Given the description of an element on the screen output the (x, y) to click on. 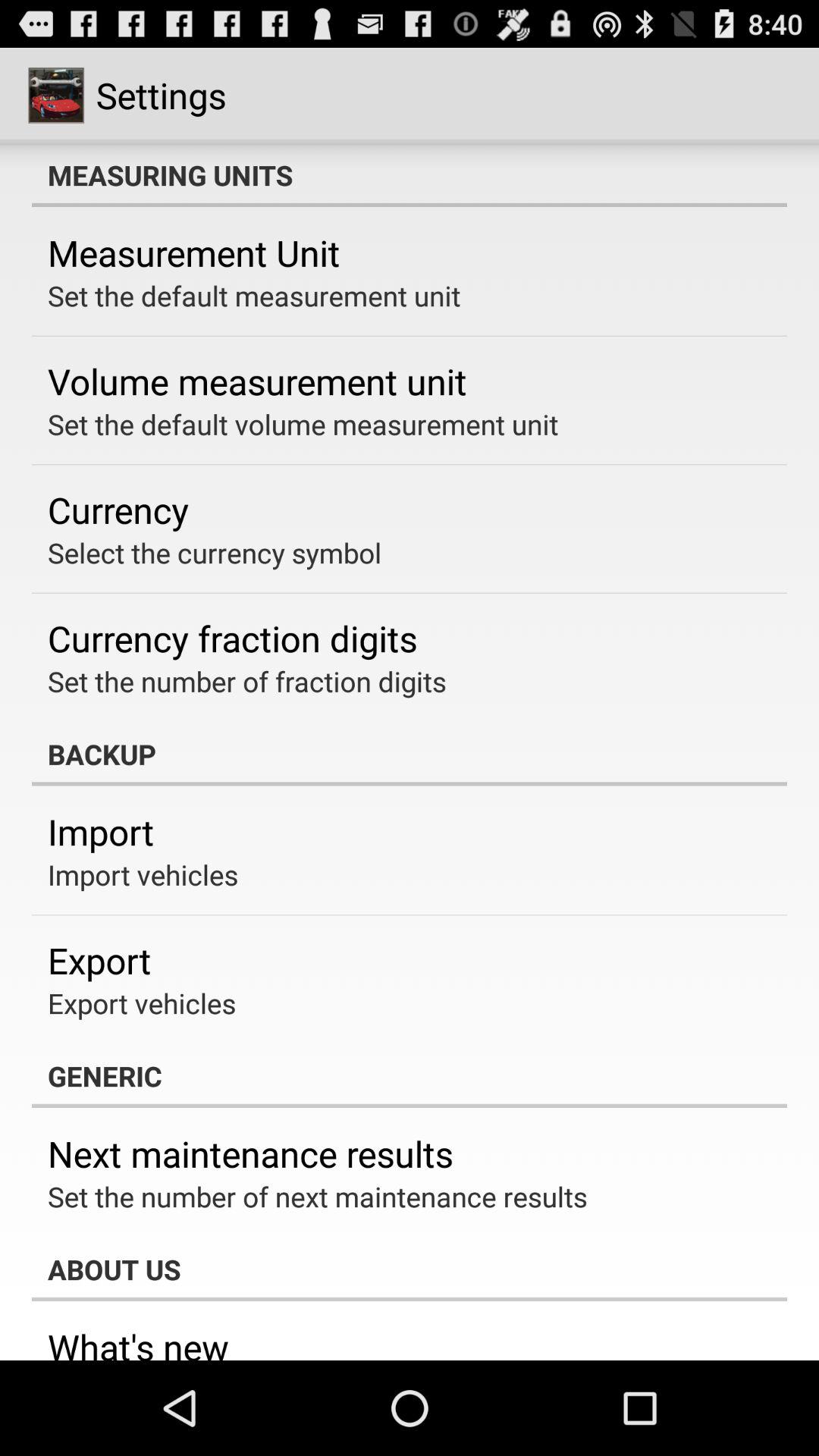
turn off backup (409, 754)
